Given the description of an element on the screen output the (x, y) to click on. 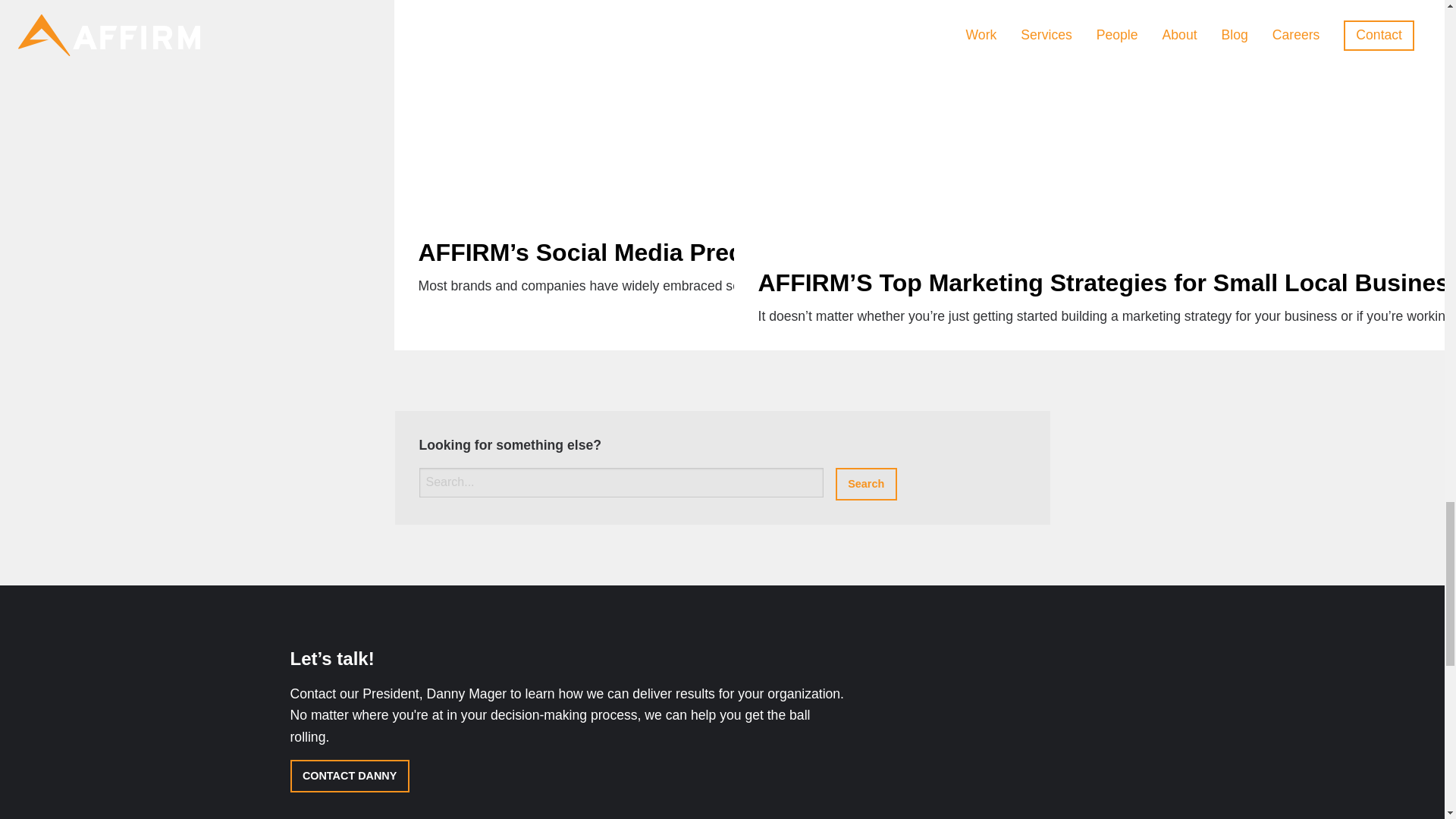
Search (865, 483)
Search (865, 483)
CONTACT DANNY (349, 776)
Search (865, 483)
Looking for something else? (620, 482)
